Given the description of an element on the screen output the (x, y) to click on. 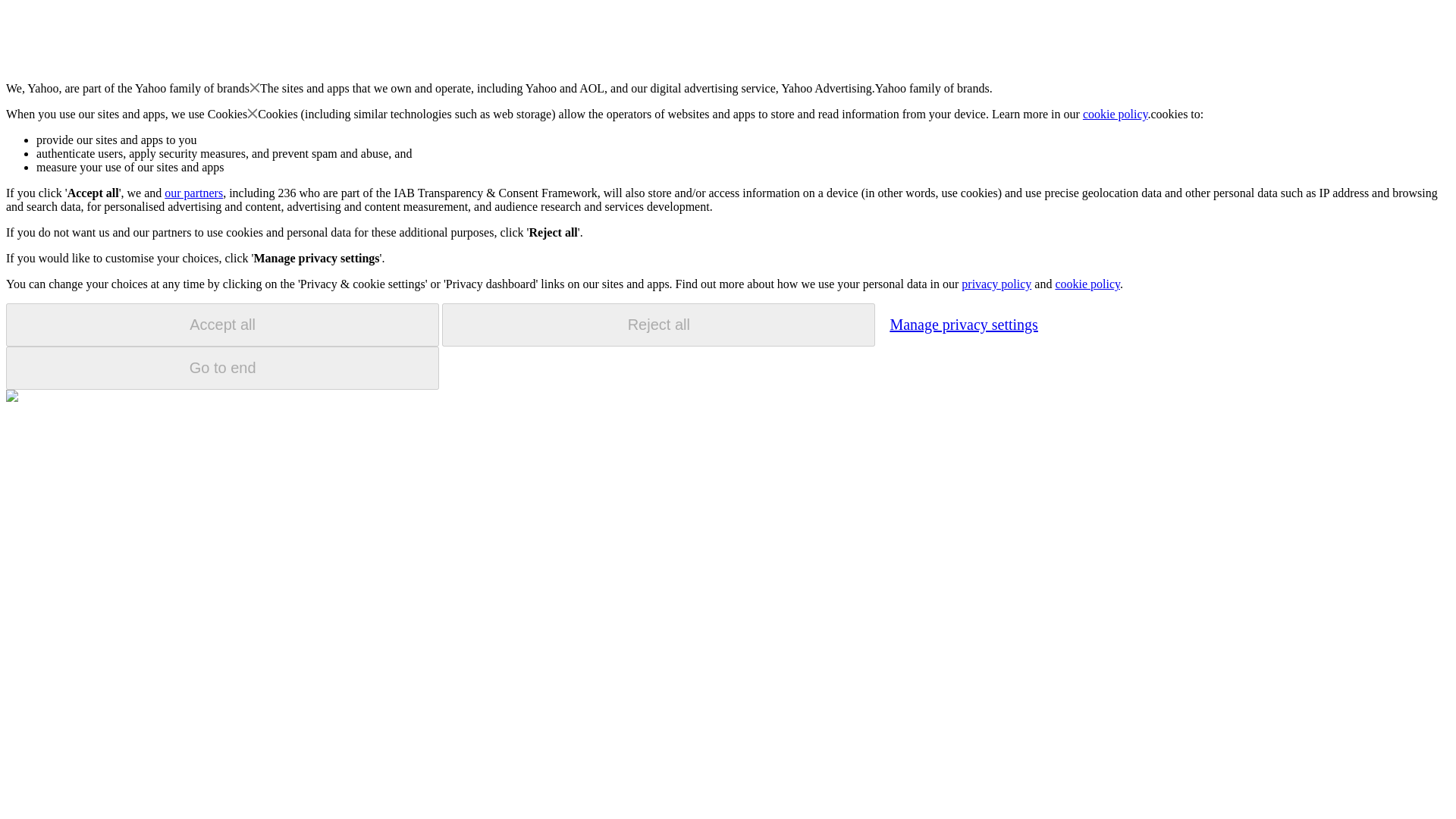
Go to end (222, 367)
cookie policy (1115, 113)
Manage privacy settings (963, 323)
privacy policy (995, 283)
our partners (193, 192)
Reject all (658, 324)
Accept all (222, 324)
cookie policy (1086, 283)
